Given the description of an element on the screen output the (x, y) to click on. 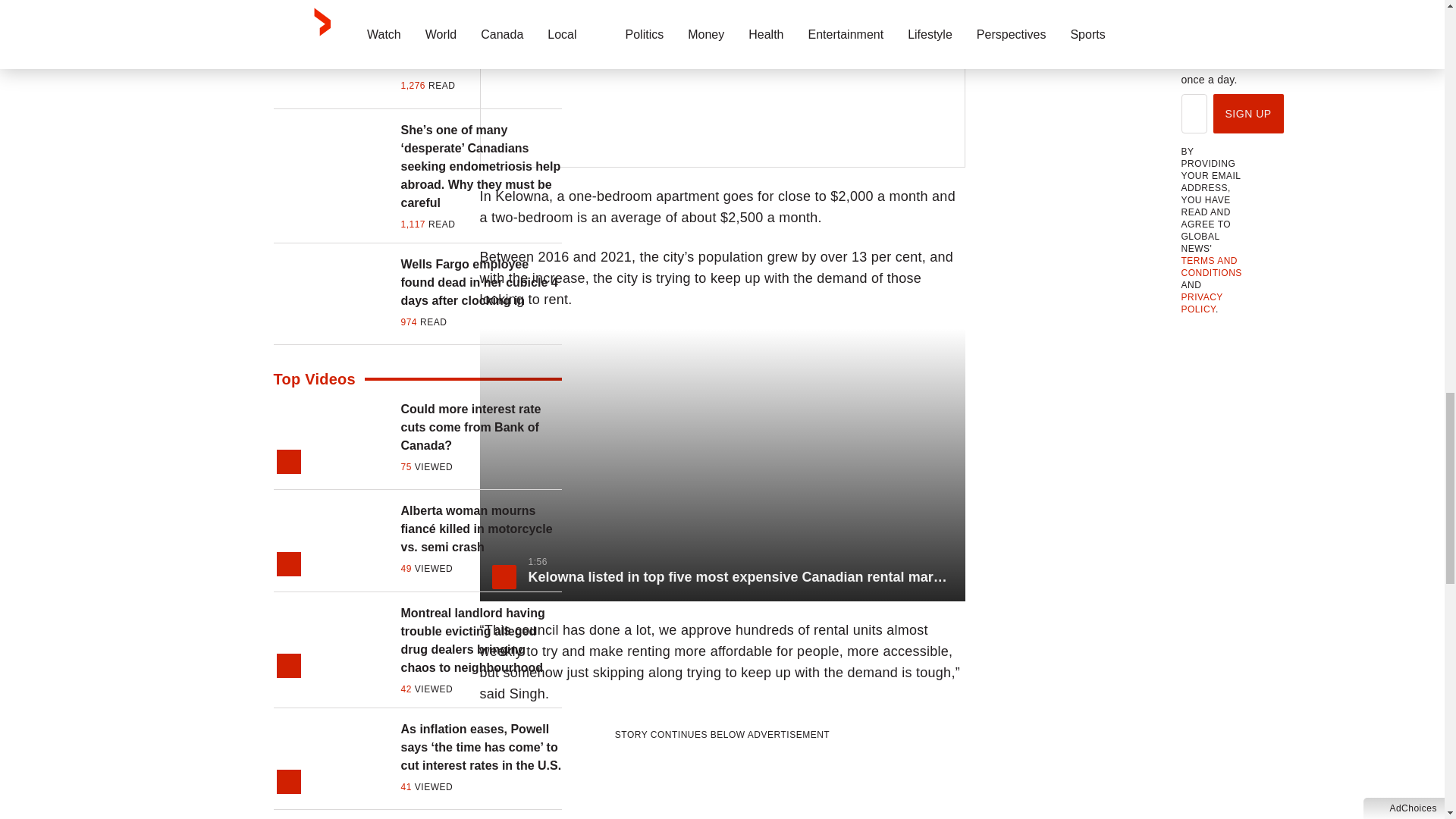
Could more interest rate cuts come from Bank of Canada? (480, 427)
